Given the description of an element on the screen output the (x, y) to click on. 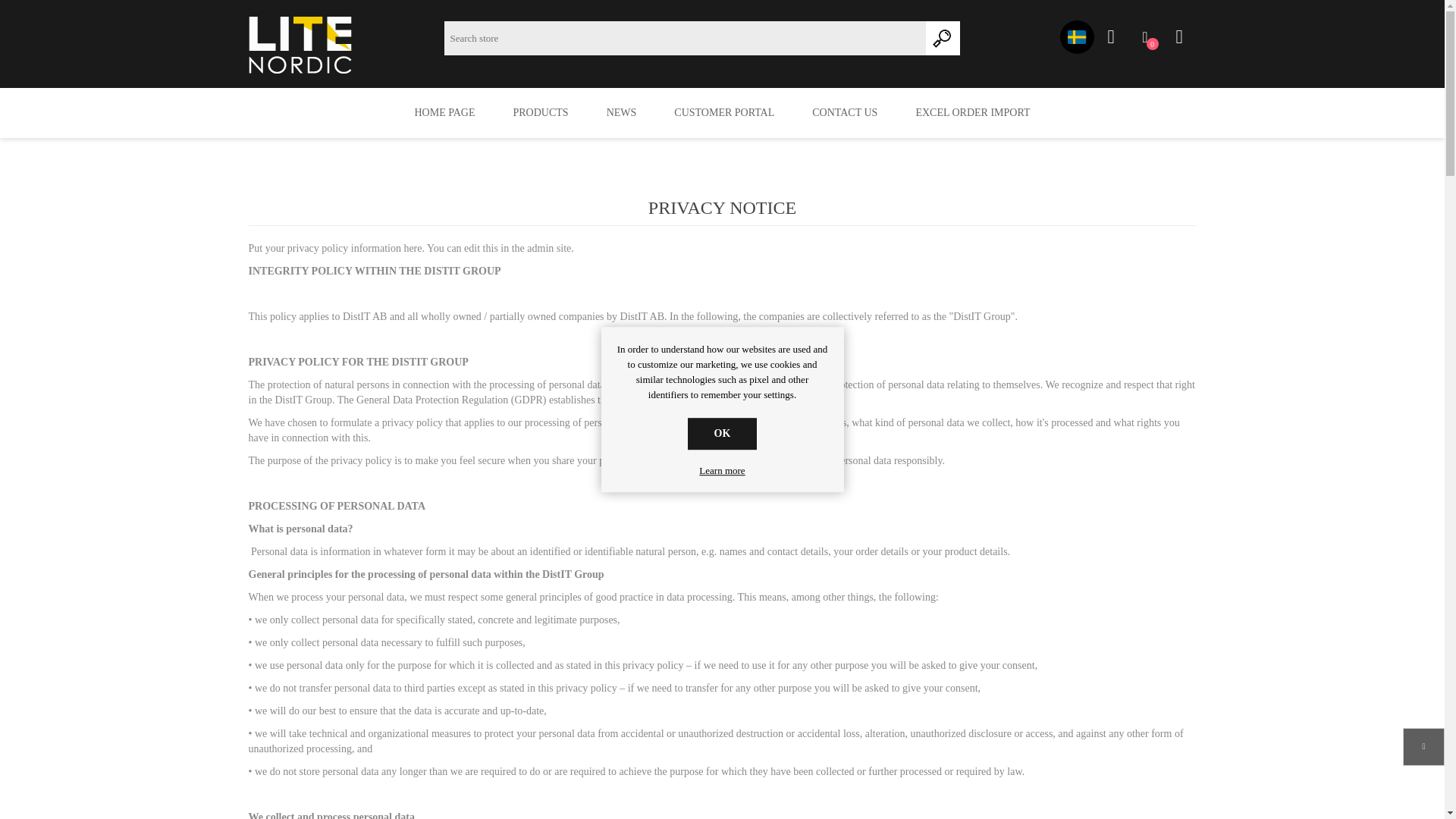
NEWS (622, 112)
Search (1144, 37)
CONTACT US (941, 38)
Home Page (844, 112)
CUSTOMER PORTAL (443, 112)
HOME PAGE (724, 112)
Shopping cart (443, 112)
EXCEL ORDER IMPORT (1178, 37)
